Given the description of an element on the screen output the (x, y) to click on. 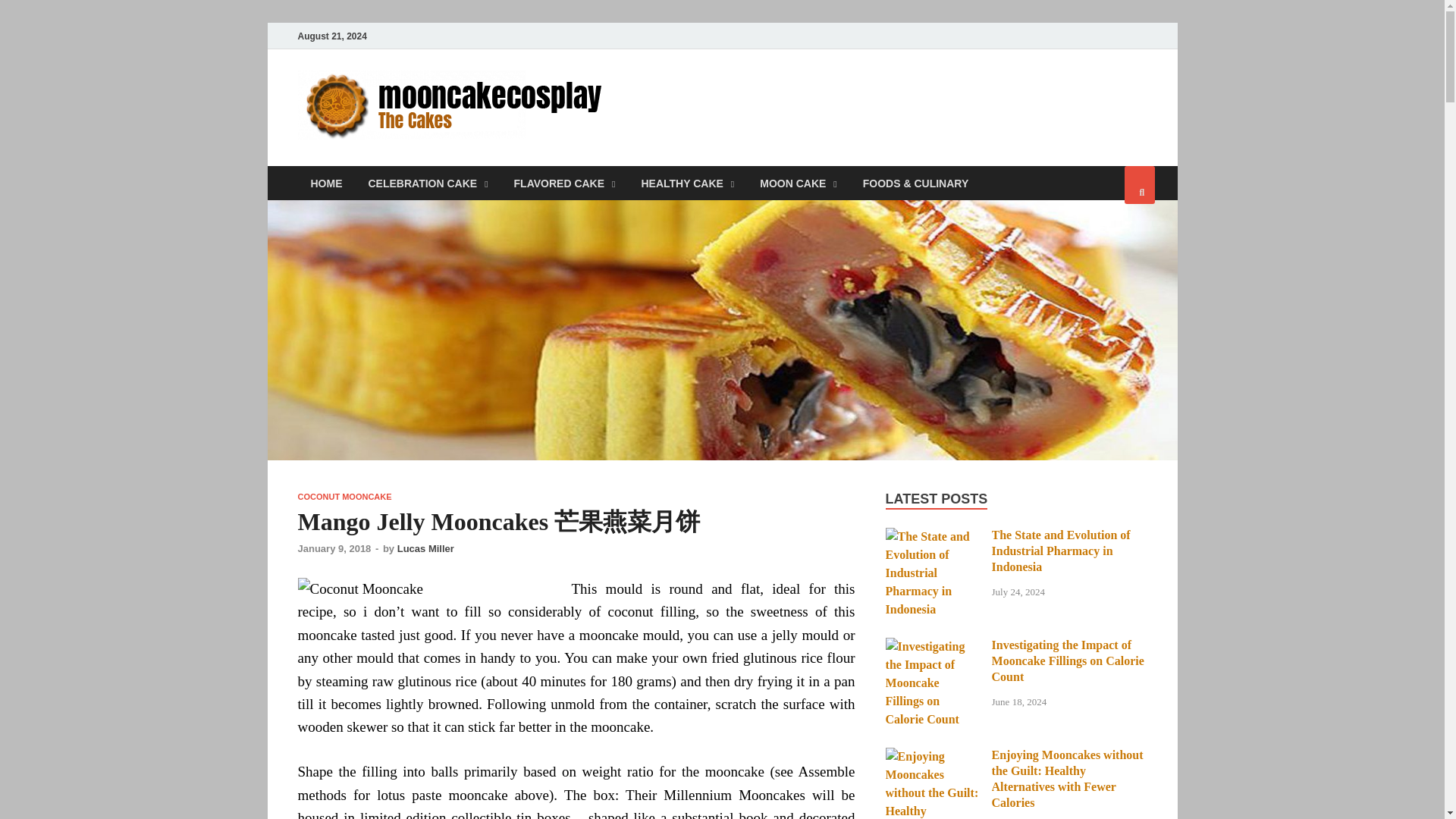
HEALTHY CAKE (686, 182)
FLAVORED CAKE (564, 182)
The State and Evolution of Industrial Pharmacy in Indonesia (932, 535)
CELEBRATION CAKE (427, 182)
HOME (326, 182)
MOON CAKE (798, 182)
